Given the description of an element on the screen output the (x, y) to click on. 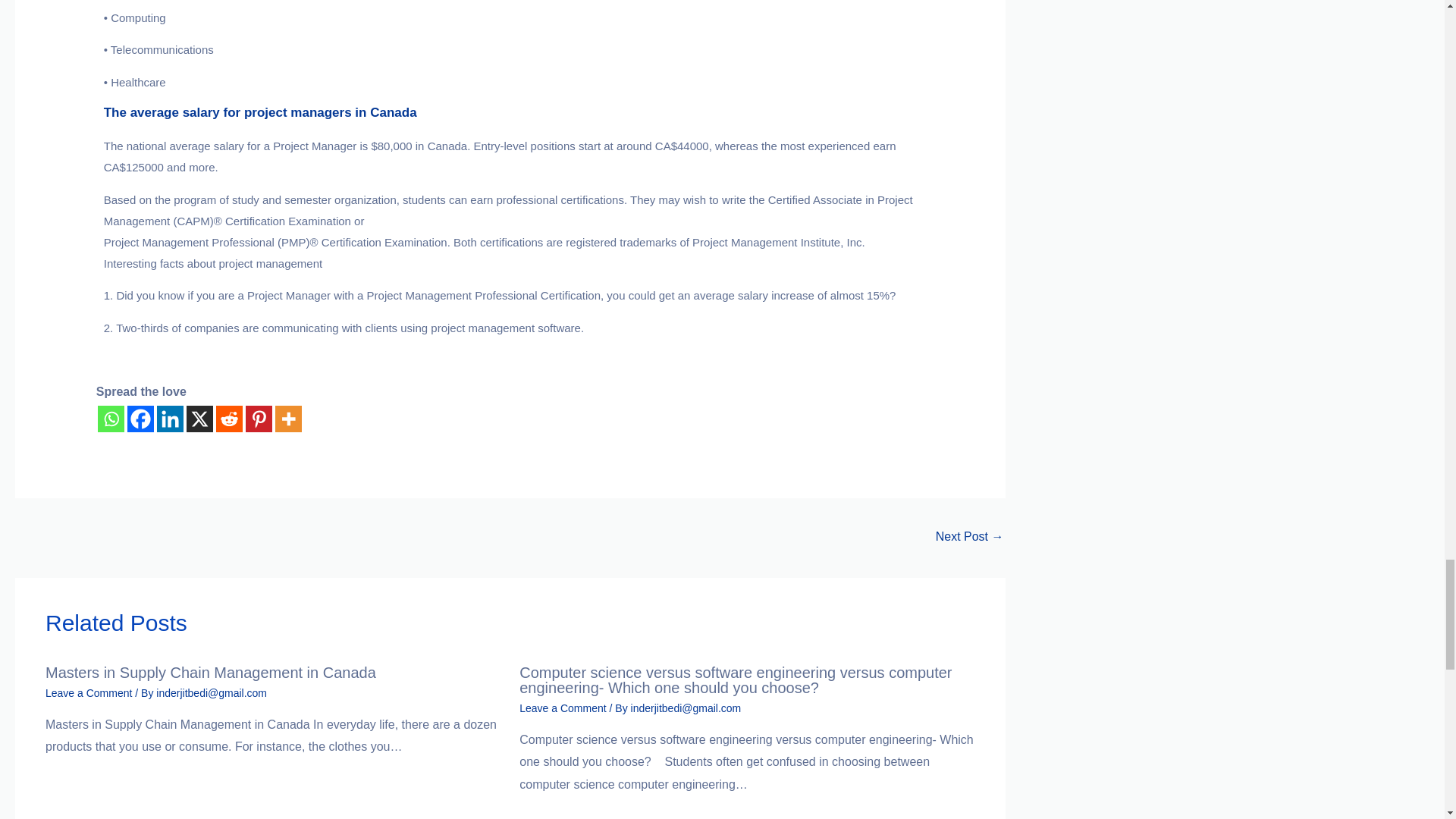
Facebook (141, 417)
X (199, 417)
Leave a Comment (88, 693)
Pinterest (259, 417)
Linkedin (170, 417)
Reddit (229, 417)
Leave a Comment (562, 707)
More (288, 417)
Masters in Supply Chain Management in Canada (970, 538)
Masters in Supply Chain Management in Canada (210, 672)
Whatsapp (110, 417)
